Given the description of an element on the screen output the (x, y) to click on. 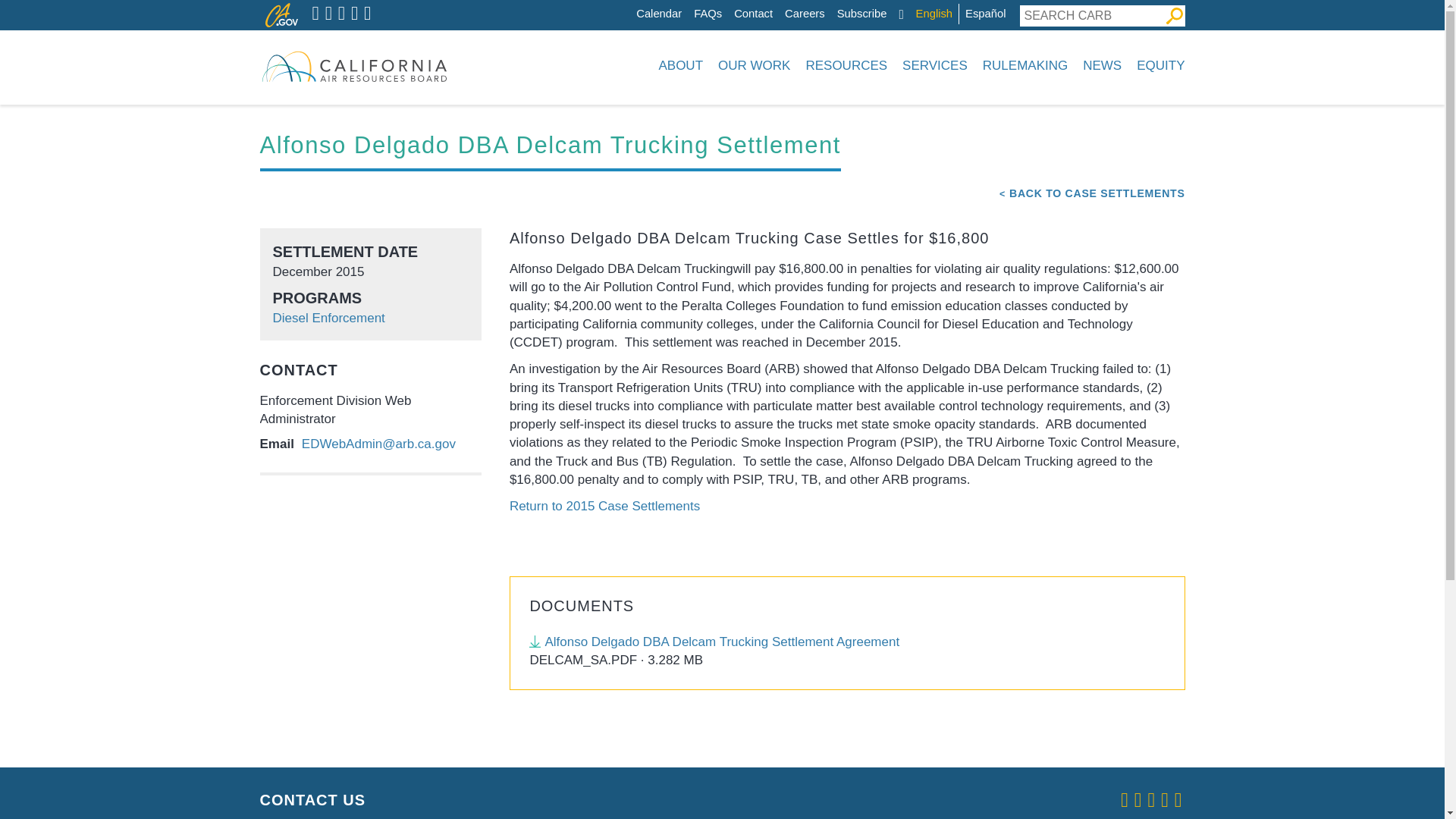
EQUITY (1157, 65)
Search (1174, 15)
RESOURCES (846, 65)
FAQs (708, 14)
Enter the terms you wish to search for. (1091, 15)
Skip to main content (639, 4)
Home (353, 65)
Calendar (658, 14)
NEWS (1102, 65)
RULEMAKING (1025, 65)
